Given the description of an element on the screen output the (x, y) to click on. 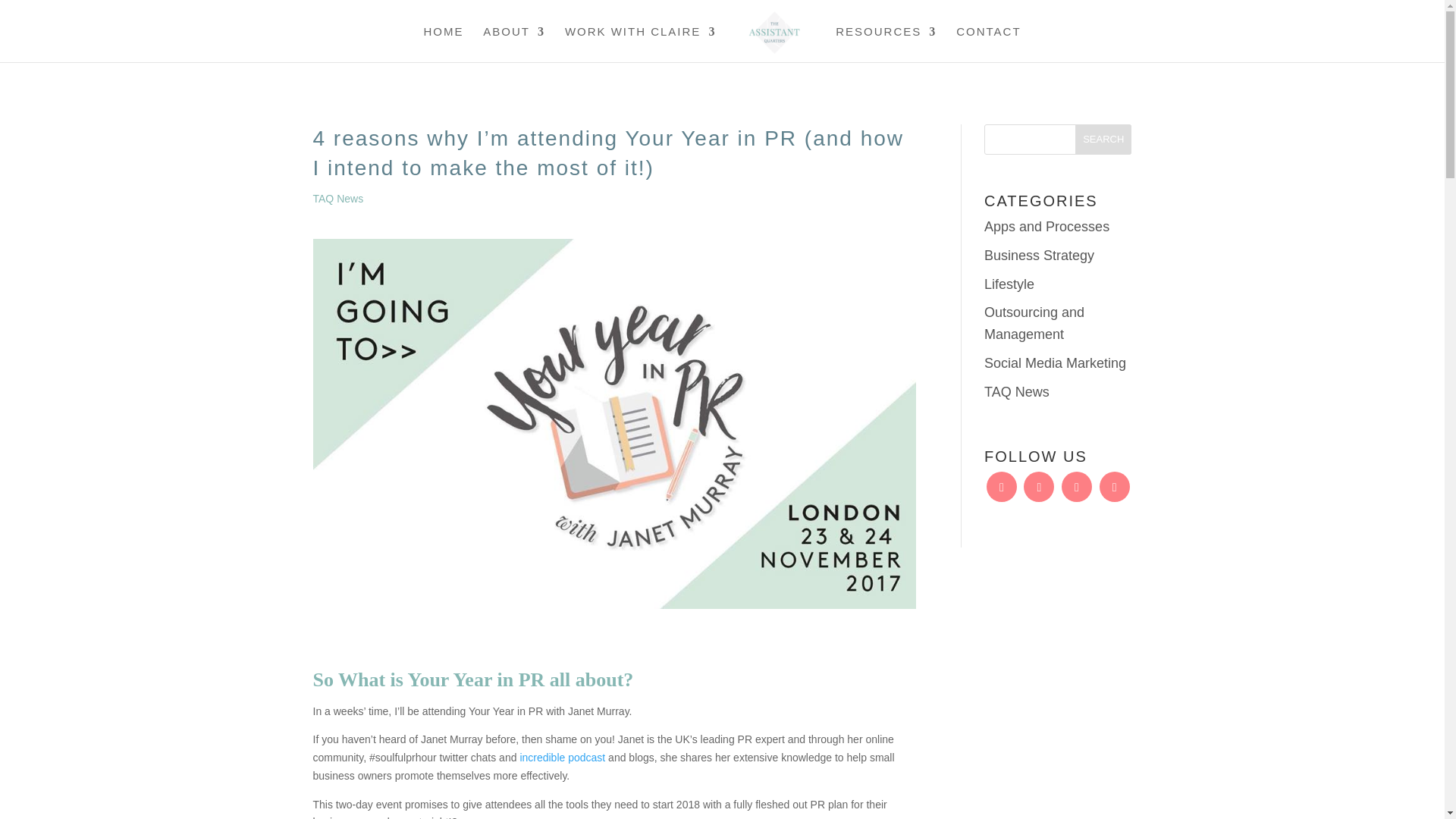
WORK WITH CLAIRE (640, 44)
incredible podcast (562, 757)
Search (1103, 139)
Apps and Processes (1046, 226)
Search (1103, 139)
CONTACT (988, 44)
TAQ News (337, 198)
RESOURCES (885, 44)
ABOUT (513, 44)
Business Strategy (1039, 255)
HOME (443, 44)
